Given the description of an element on the screen output the (x, y) to click on. 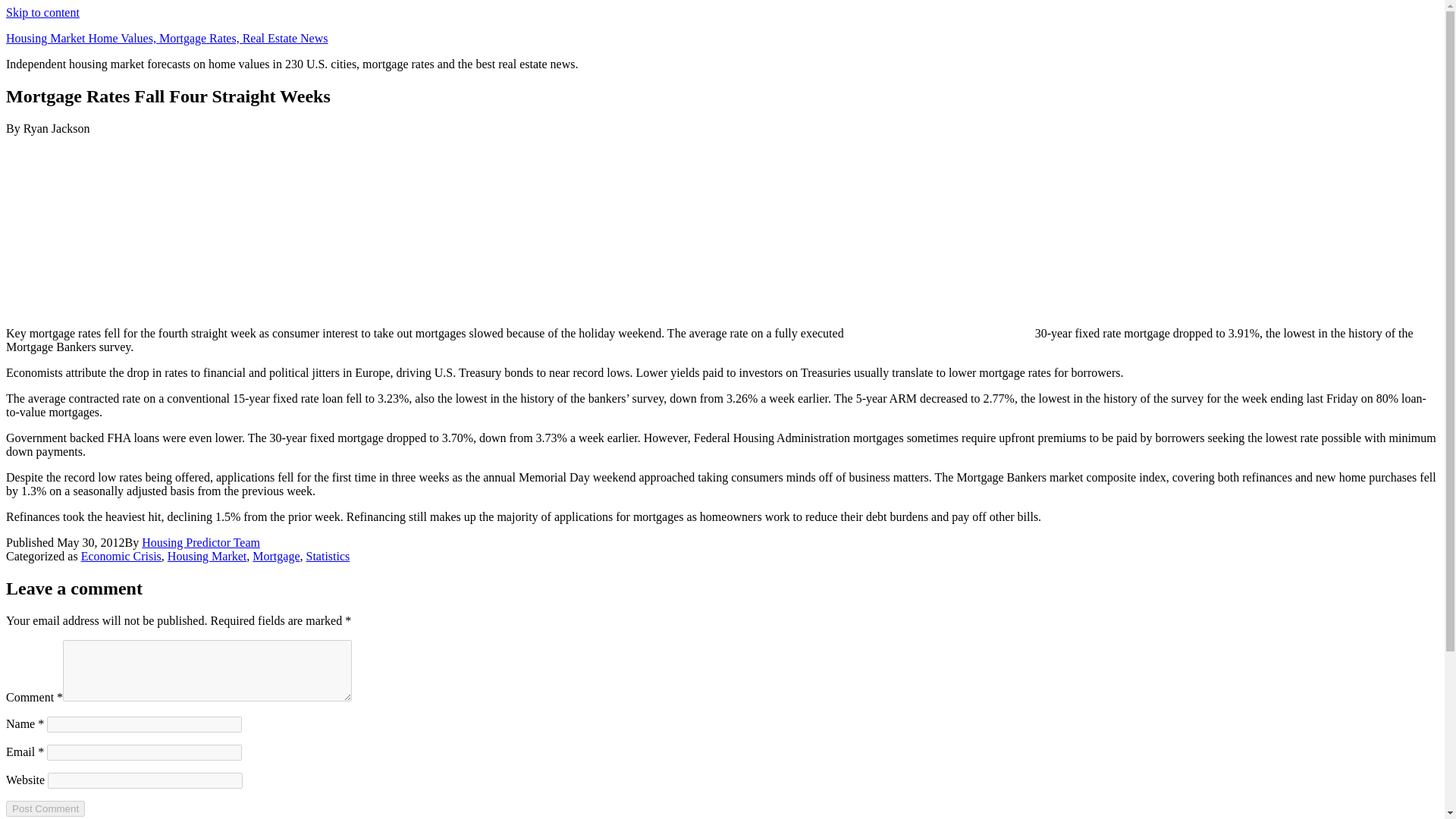
Post Comment (44, 808)
Housing Market (206, 555)
Post Comment (44, 808)
Statistics (327, 555)
Skip to content (42, 11)
Economic Crisis (121, 555)
Housing Market Home Values, Mortgage Rates, Real Estate News (167, 38)
Mortgage (275, 555)
Housing Predictor Team (200, 542)
